Given the description of an element on the screen output the (x, y) to click on. 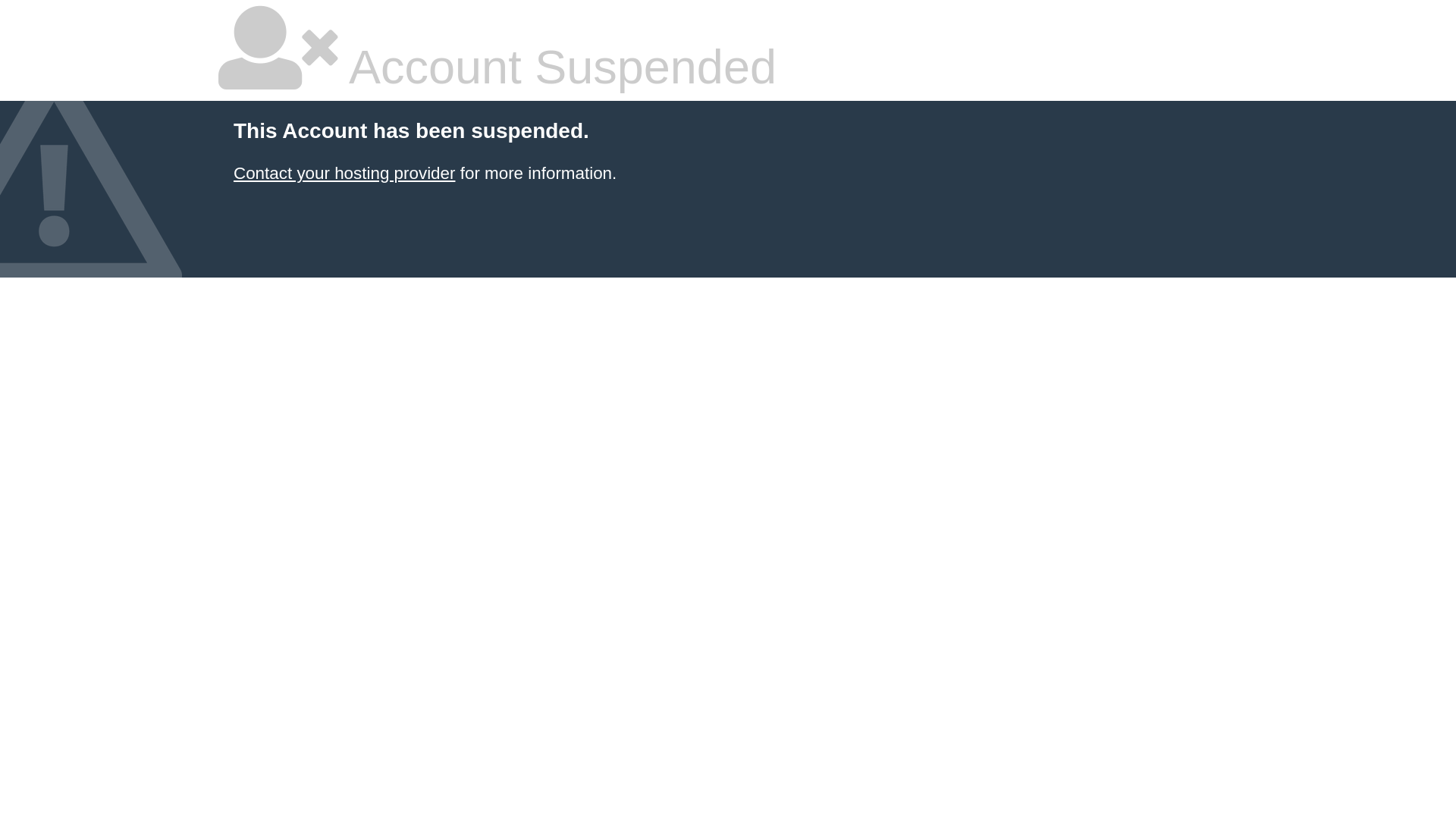
Contact your hosting provider Element type: text (344, 172)
